Given the description of an element on the screen output the (x, y) to click on. 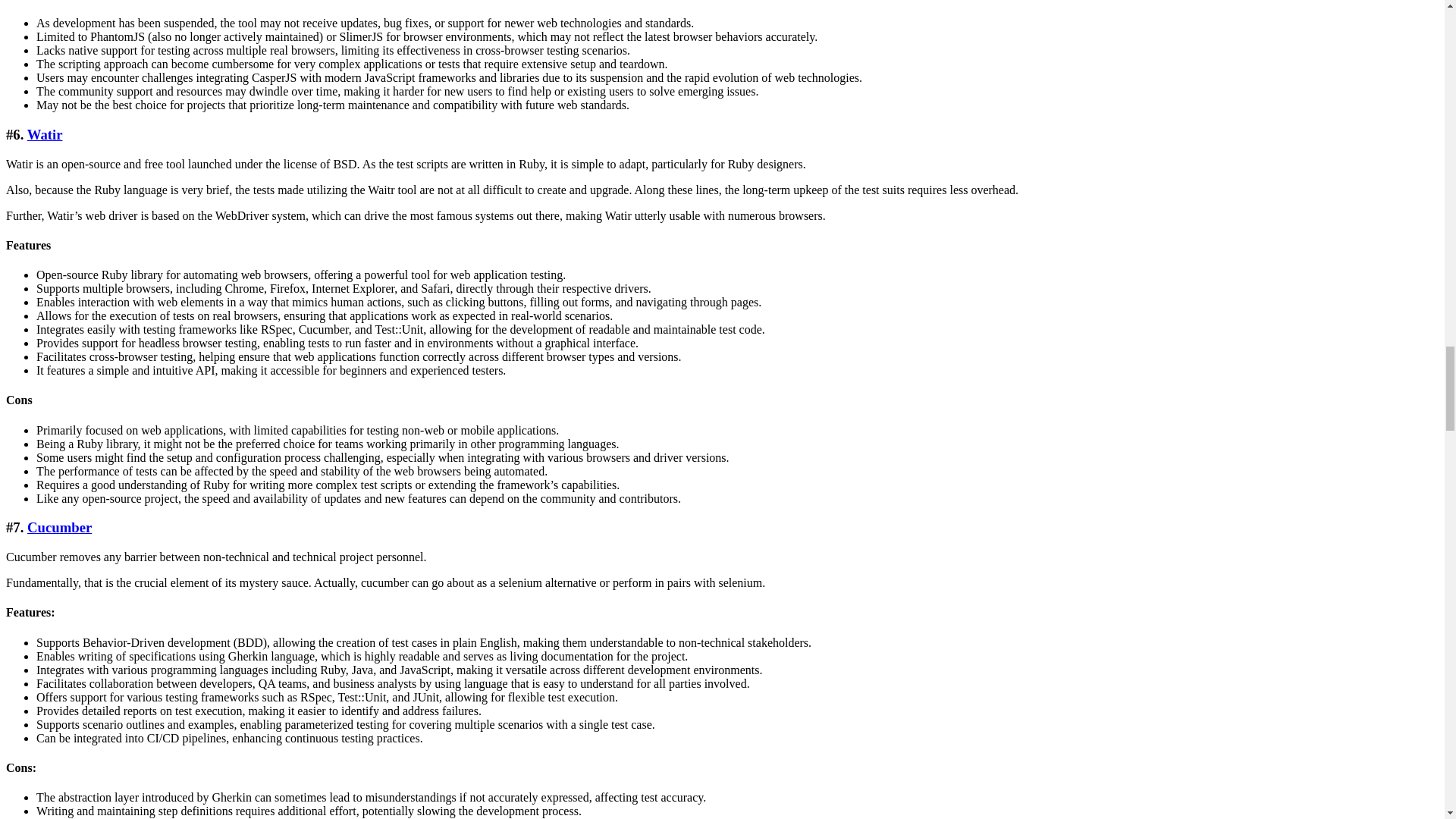
Cucumber (59, 527)
Watir (44, 134)
